Given the description of an element on the screen output the (x, y) to click on. 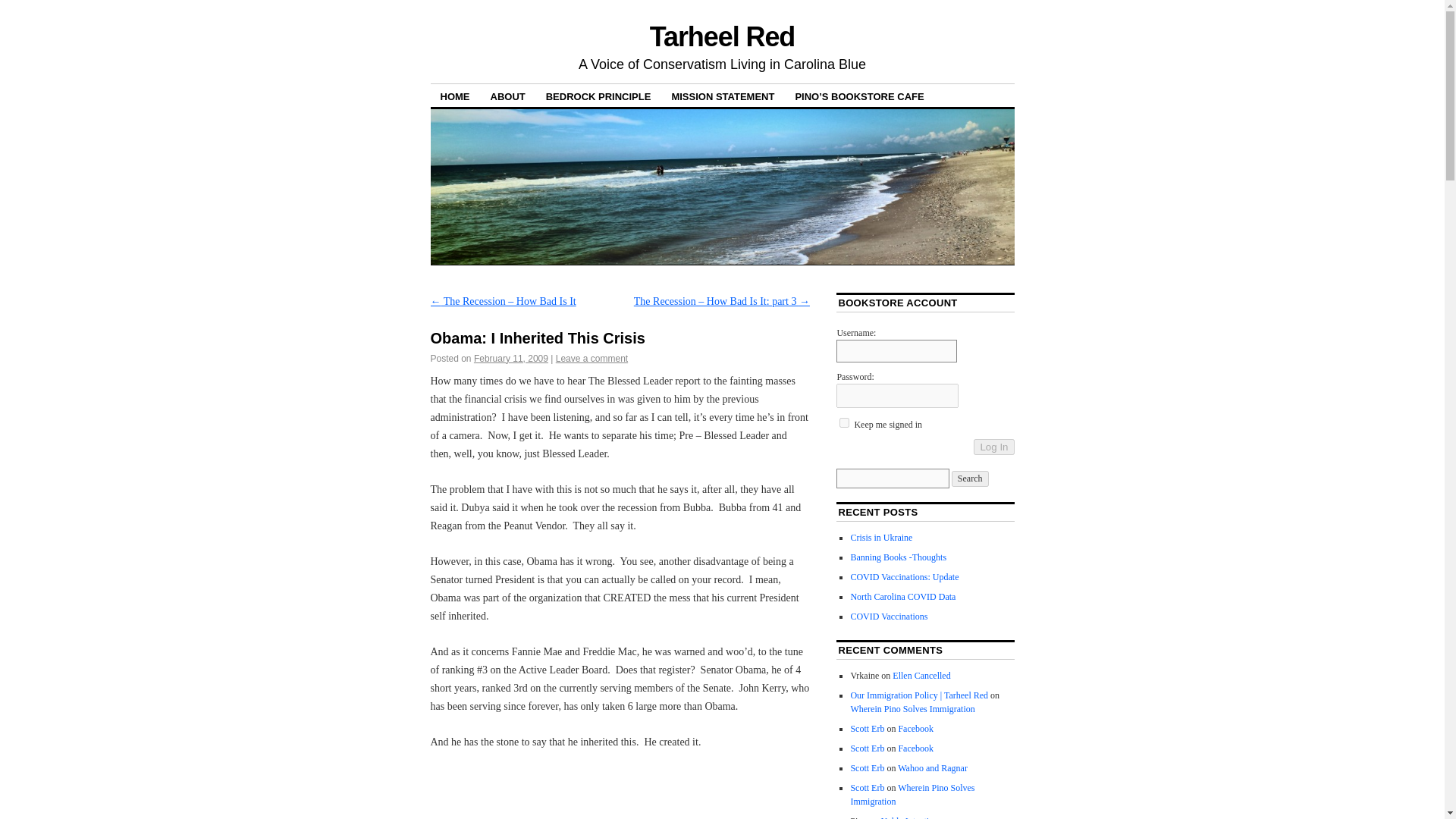
Scott Erb (866, 747)
Crisis in Ukraine (881, 537)
Scott Erb (866, 767)
forever (844, 422)
Tarheel Red (721, 36)
Search (970, 478)
HOME (455, 96)
Facebook (915, 728)
BEDROCK PRINCIPLE (598, 96)
Leave a comment (591, 357)
